Given the description of an element on the screen output the (x, y) to click on. 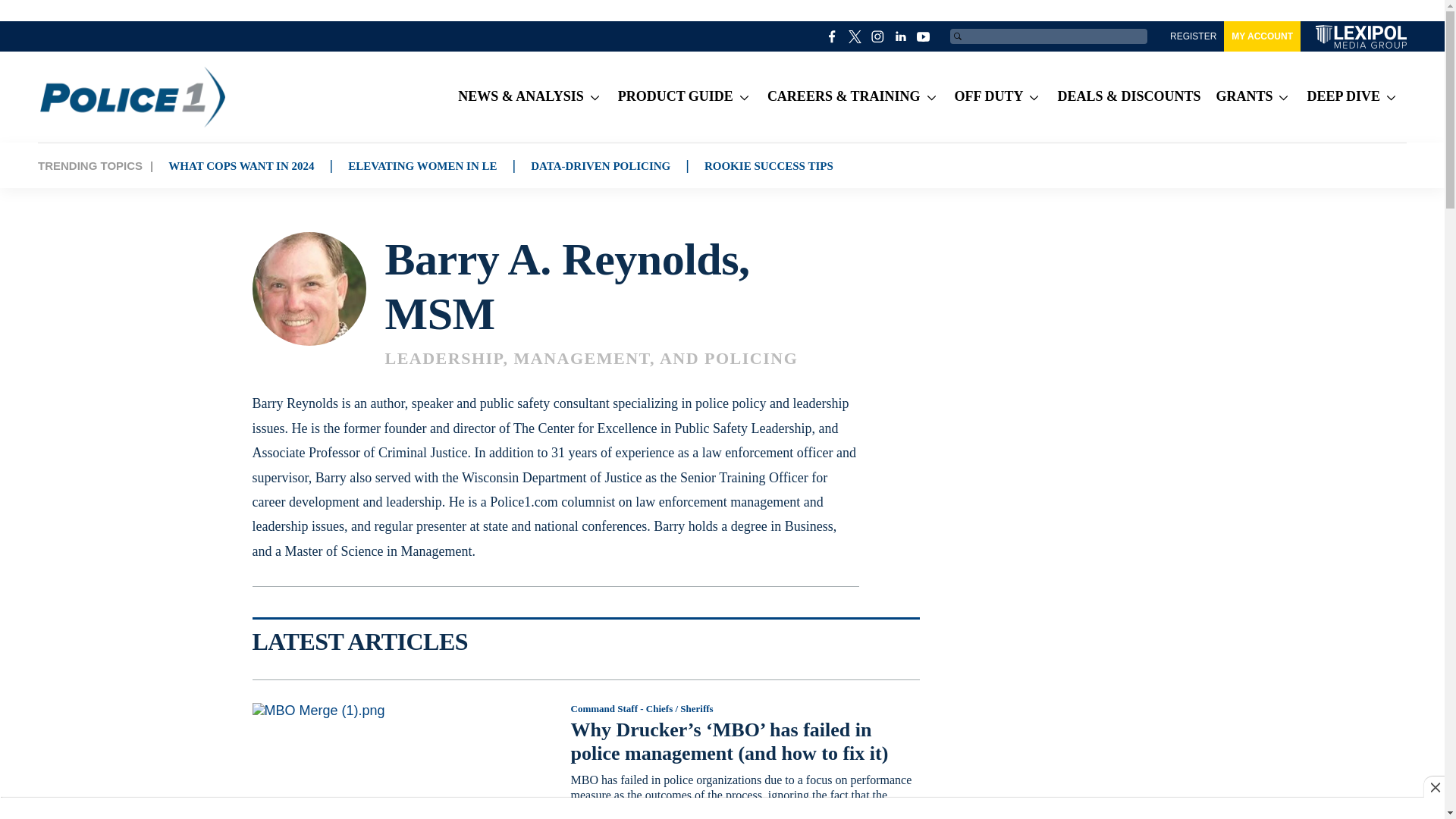
MY ACCOUNT (1262, 36)
instagram (877, 36)
REGISTER (1192, 36)
youtube (923, 36)
facebook (832, 36)
linkedin (900, 36)
twitter (855, 36)
